Given the description of an element on the screen output the (x, y) to click on. 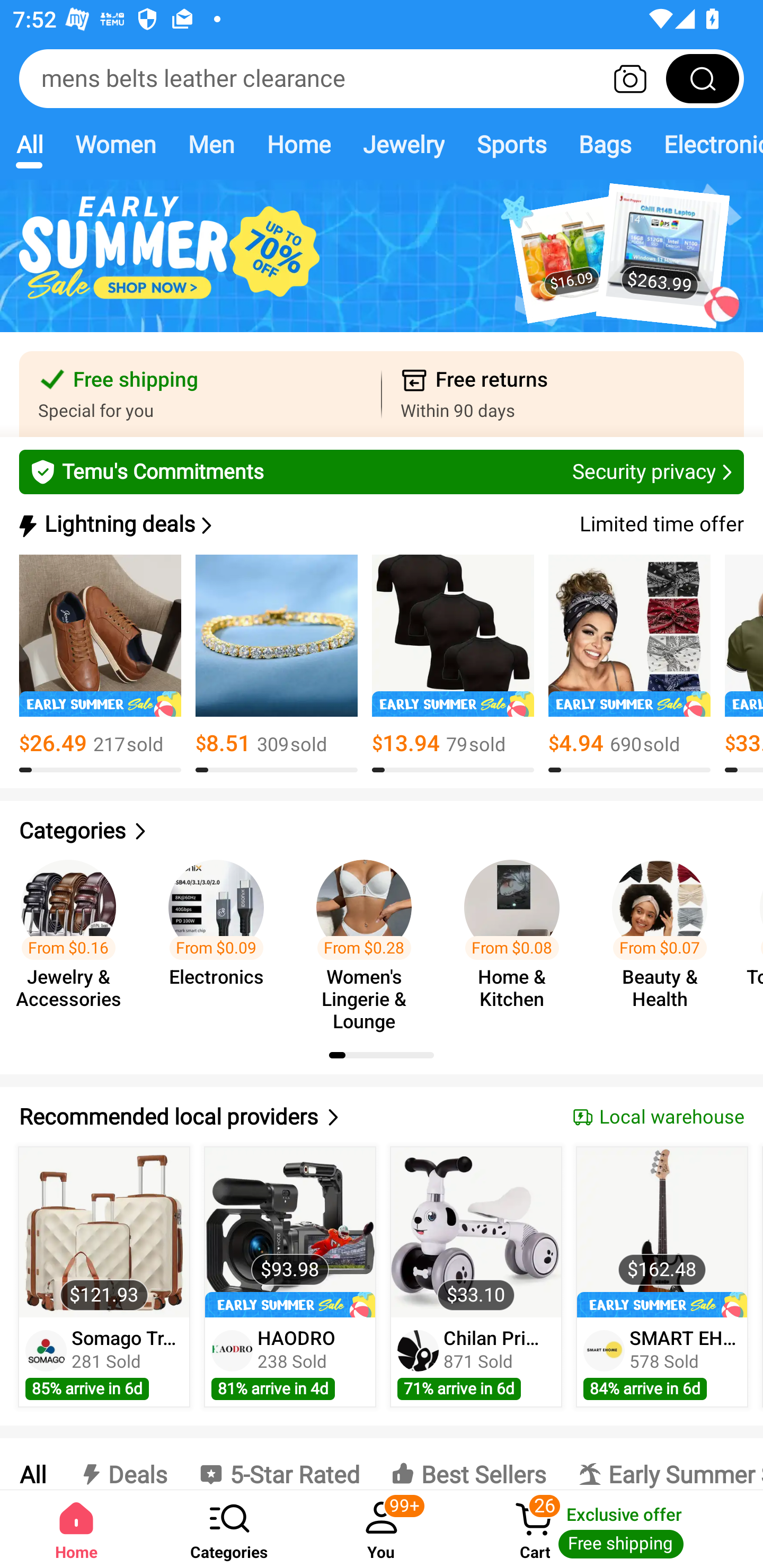
mens belts leather clearance (381, 78)
All (29, 144)
Women (115, 144)
Men (211, 144)
Home (298, 144)
Jewelry (403, 144)
Sports (511, 144)
Bags (605, 144)
Electronics (705, 144)
$16.09 $263.99 (381, 265)
Free shipping Special for you (200, 394)
Free returns Within 90 days (562, 394)
Temu's Commitments (381, 471)
Lightning deals Lightning deals Limited time offer (379, 524)
$26.49 217￼sold 8.0 (100, 664)
$8.51 309￼sold 8.0 (276, 664)
$13.94 79￼sold 8.0 (453, 664)
$4.94 690￼sold 8.0 (629, 664)
Categories (381, 830)
From $0.16 Jewelry & Accessories (74, 936)
From $0.09 Electronics (222, 936)
From $0.28 Women's Lingerie & Lounge (369, 936)
From $0.08 Home & Kitchen (517, 936)
From $0.07 Beauty & Health (665, 936)
$121.93 Somago Travel 281 Sold 85% arrive in 6d (103, 1276)
$93.98 HAODRO 238 Sold 81% arrive in 4d (289, 1276)
$162.48 SMART EHOME 578 Sold 84% arrive in 6d (661, 1276)
$121.93 (104, 1232)
$93.98 (290, 1232)
$33.10 (475, 1232)
$162.48 (661, 1232)
All (32, 1463)
Deals Deals Deals (122, 1463)
5-Star Rated 5-Star Rated 5-Star Rated (279, 1463)
Best Sellers Best Sellers Best Sellers (468, 1463)
Home (76, 1528)
Categories (228, 1528)
You ‎99+‎ You (381, 1528)
Cart 26 Cart Exclusive offer (610, 1528)
